Given the description of an element on the screen output the (x, y) to click on. 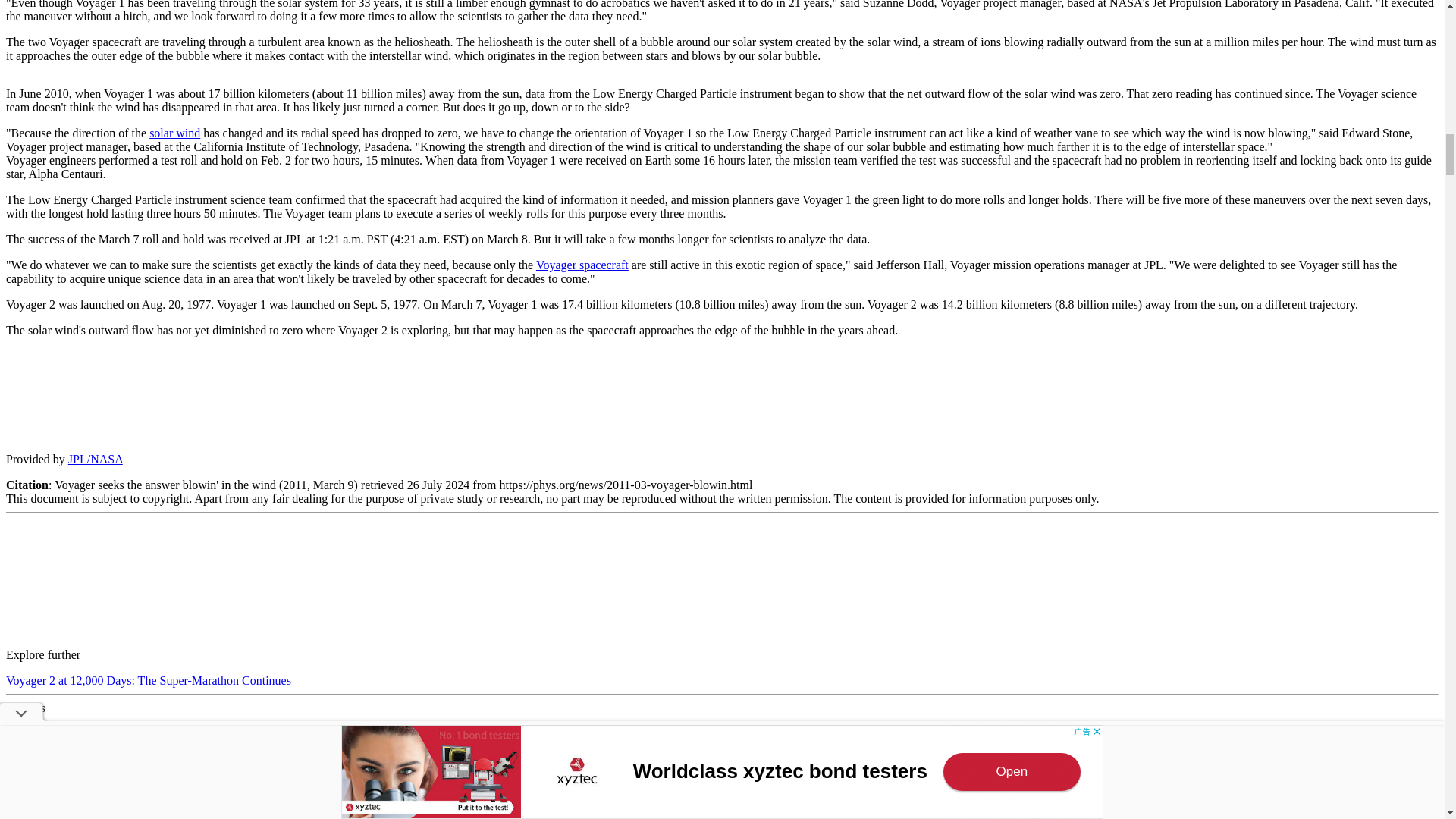
solar wind (174, 132)
Voyager spacecraft (581, 264)
